Given the description of an element on the screen output the (x, y) to click on. 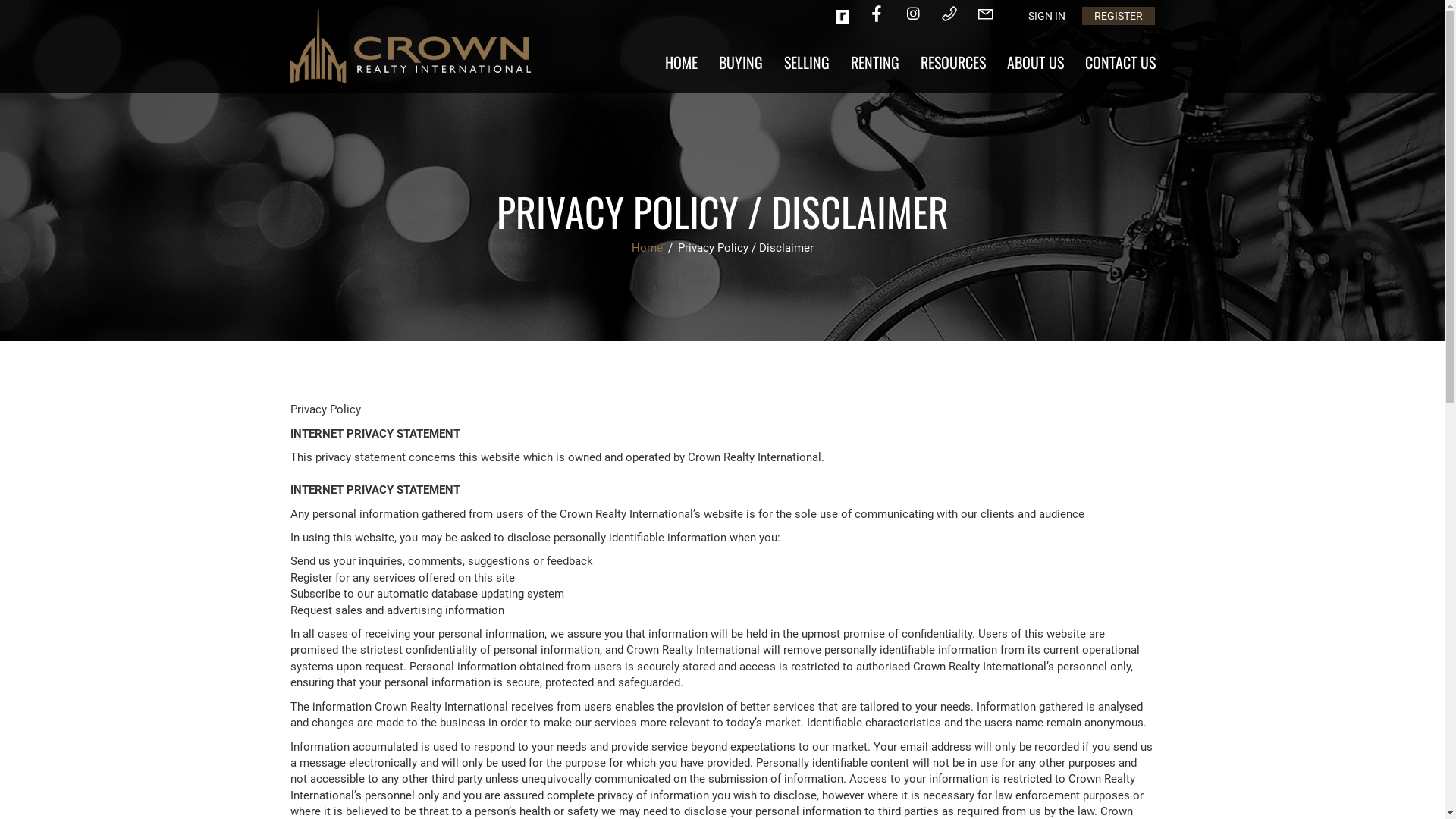
ABOUT US Element type: text (1035, 61)
Home Element type: text (647, 247)
RENTING Element type: text (875, 61)
CONTACT US Element type: text (1119, 61)
BUYING Element type: text (740, 61)
SELLING Element type: text (806, 61)
SIGN IN Element type: text (1046, 15)
RESOURCES Element type: text (953, 61)
REGISTER Element type: text (1117, 15)
HOME Element type: text (680, 61)
